Given the description of an element on the screen output the (x, y) to click on. 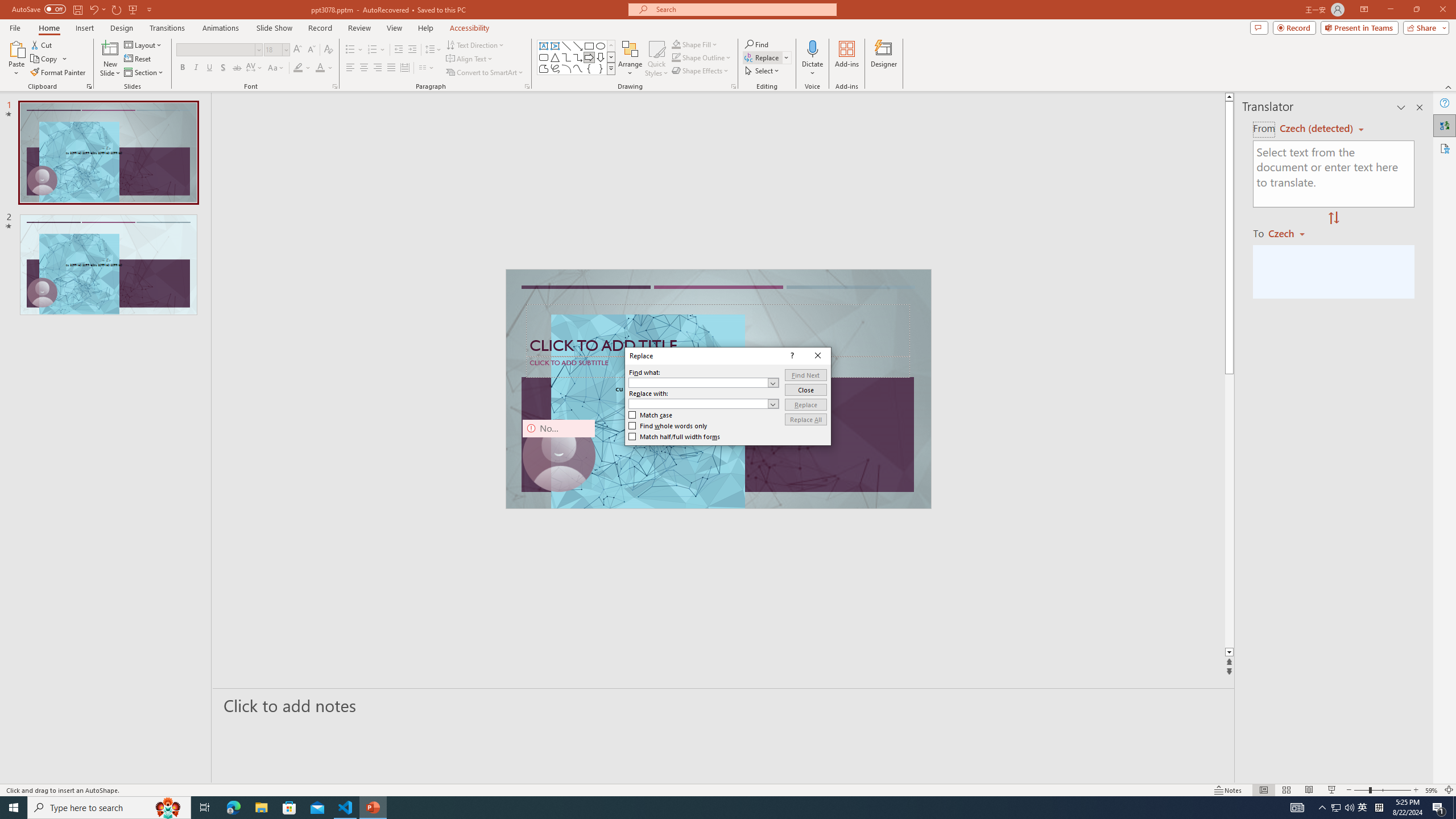
Replace (805, 404)
